Given the description of an element on the screen output the (x, y) to click on. 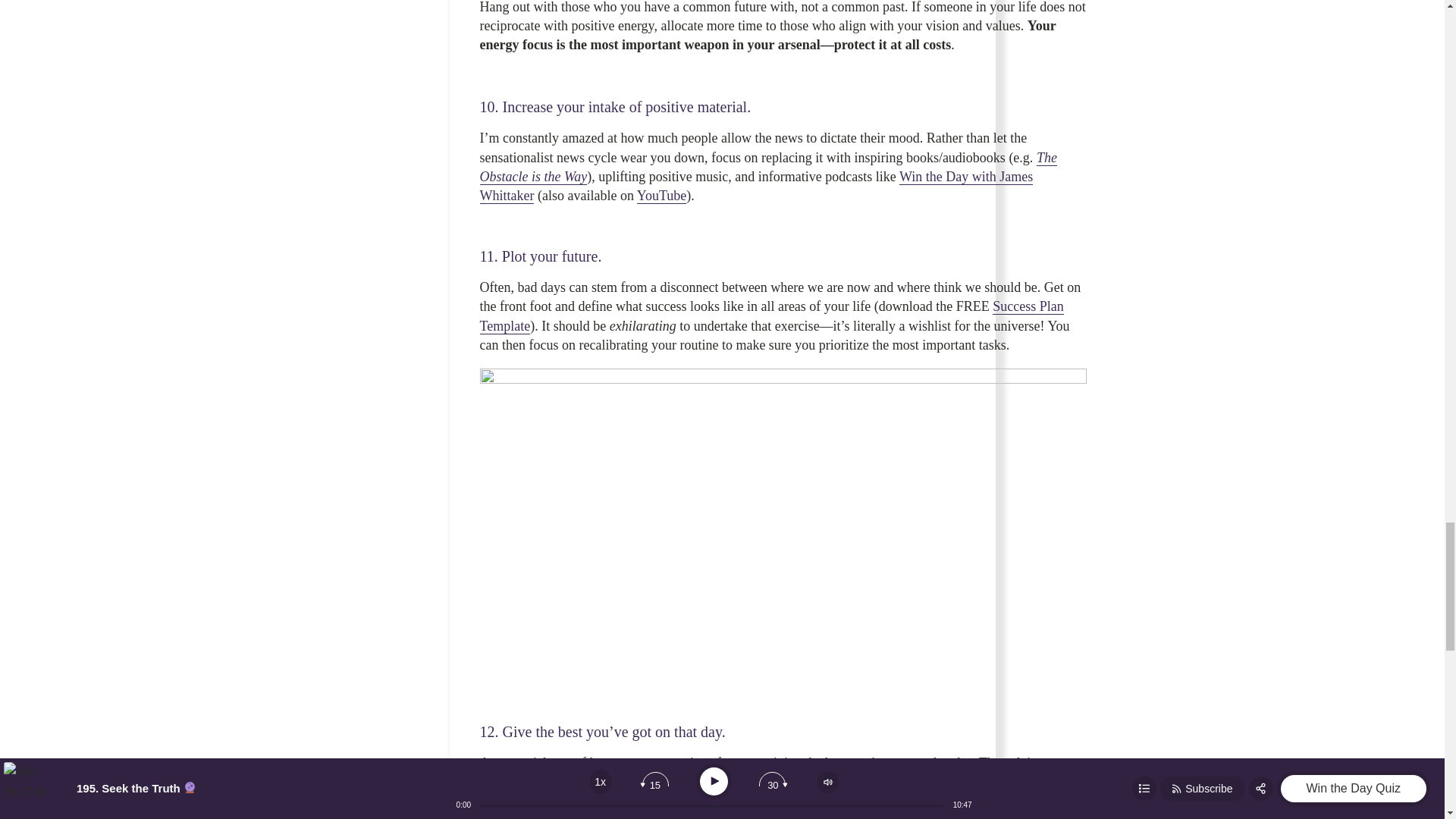
The Obstacle is the Way (768, 167)
Success Plan Template (770, 315)
Win the Day with James Whittaker (755, 185)
Alethea Boon (545, 781)
YouTube (662, 195)
